Given the description of an element on the screen output the (x, y) to click on. 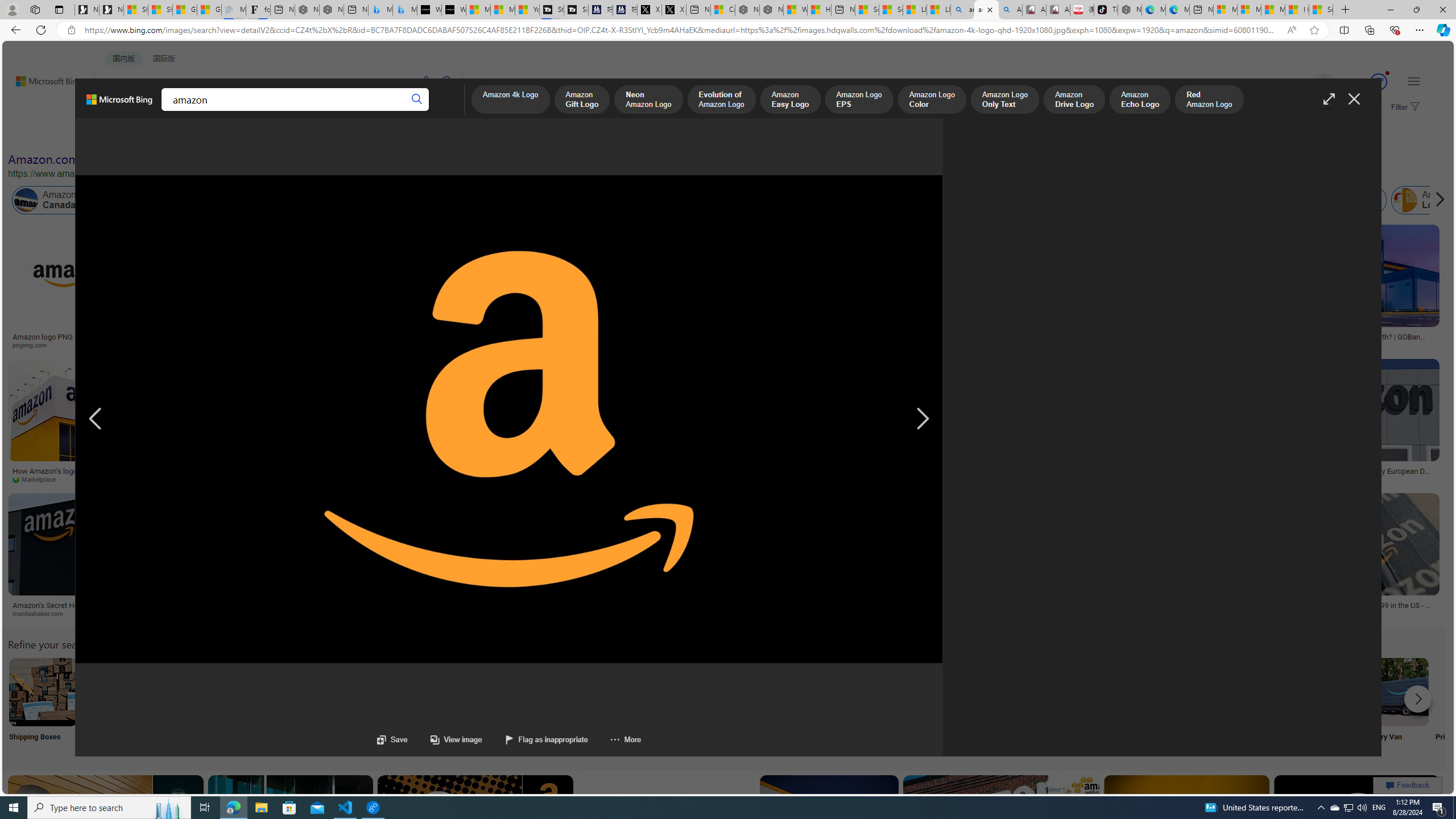
Color (173, 135)
Amazon Sign in My Account (718, 691)
Amazon Labor Law Violation in California (564, 200)
thewrap.com (1351, 479)
Amazon Echo Robot - Search Images (1009, 9)
hdqwalls.com (1128, 344)
theverge.com (1353, 613)
